Given the description of an element on the screen output the (x, y) to click on. 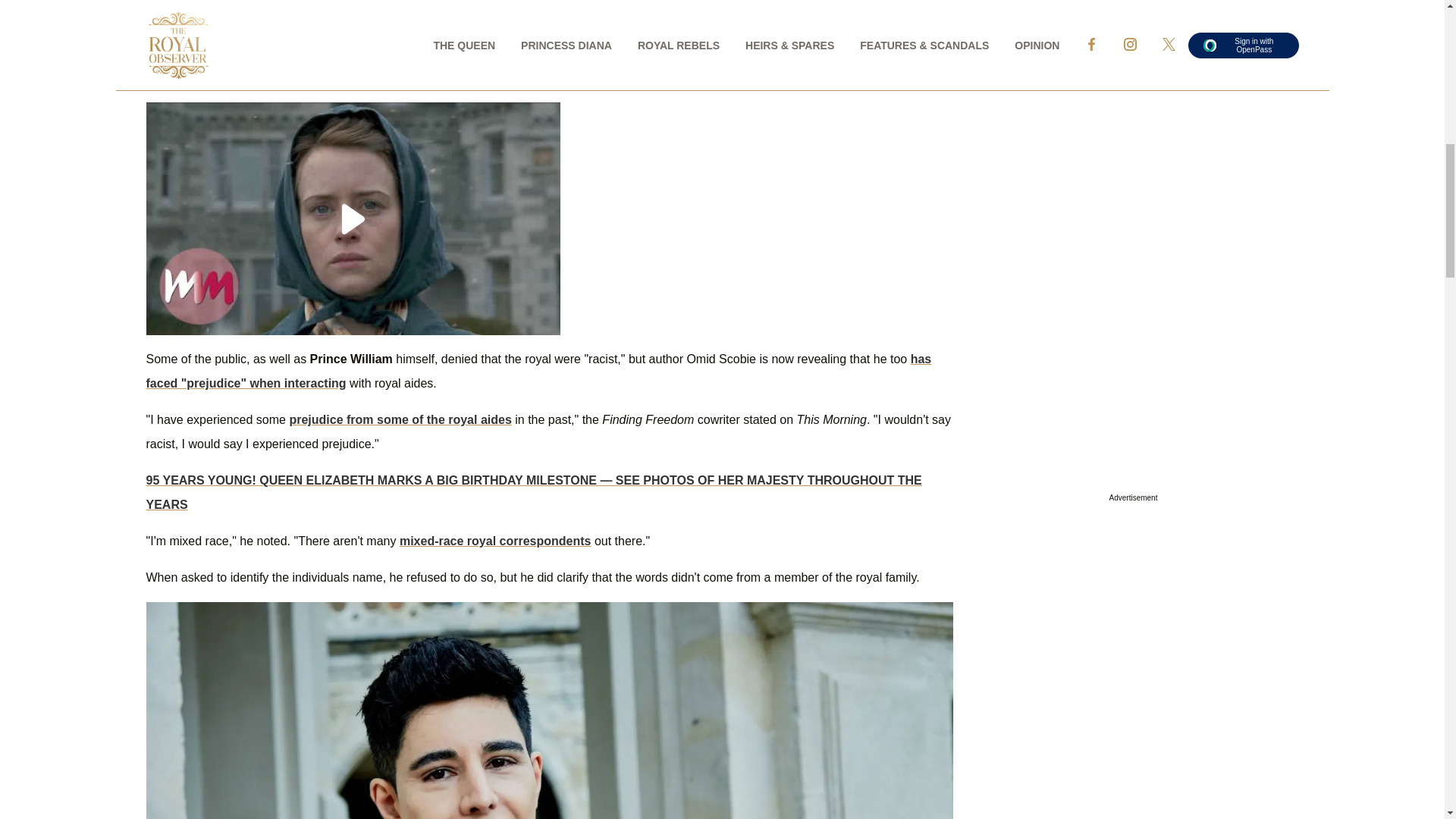
made racist remarks against her (540, 49)
has faced "prejudice" when interacting (538, 370)
mixed-race royal correspondents (494, 540)
prejudice from some of the royal aides (399, 419)
